Given the description of an element on the screen output the (x, y) to click on. 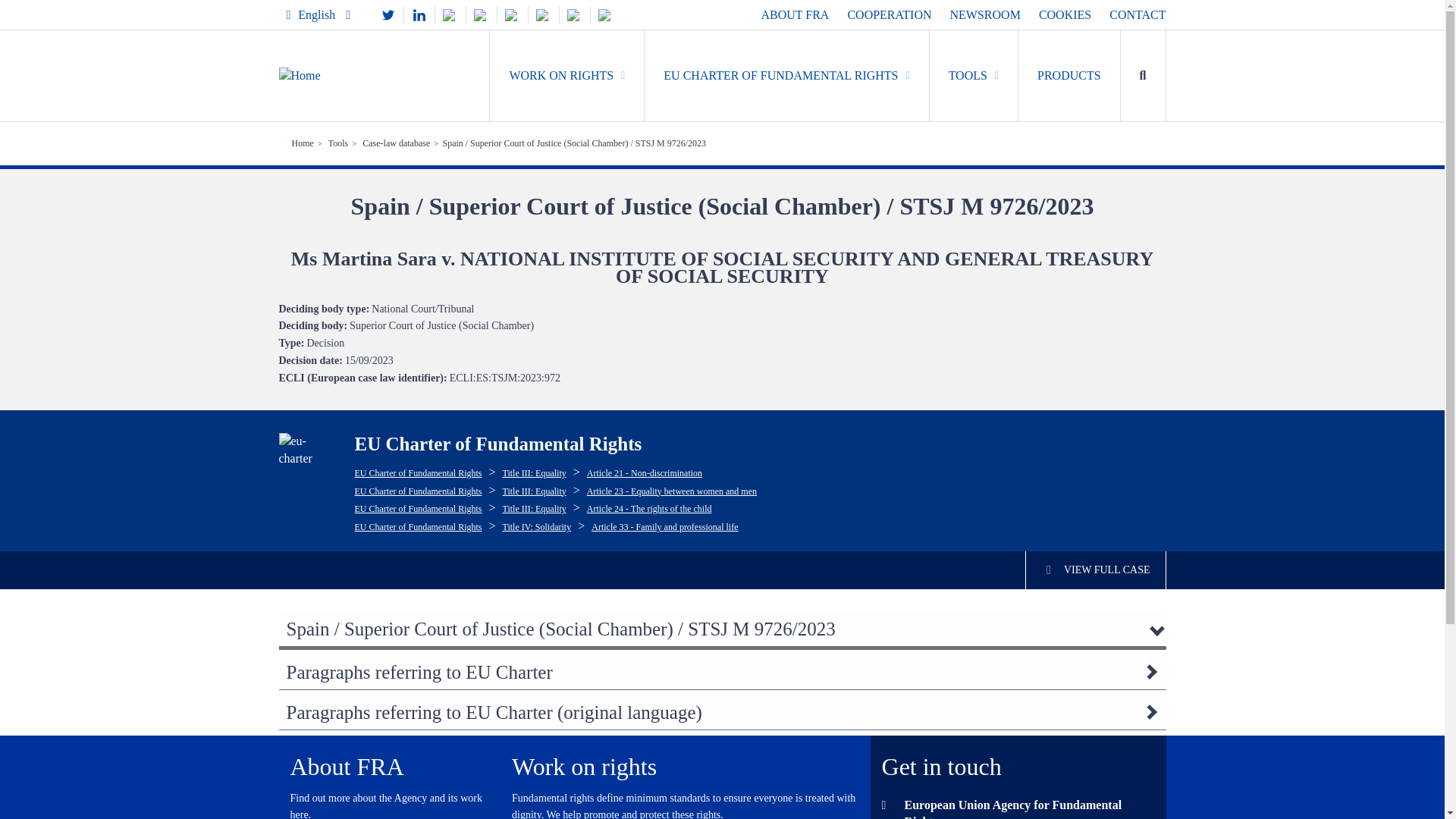
ABOUT FRA (794, 14)
FRA's Twitter channel (387, 13)
Facebook (512, 13)
LinkedIn (418, 13)
FRA's YouTube channel (543, 13)
Instagram (480, 13)
NEWSROOM (985, 14)
FRA's Mastodon channel (450, 13)
FRA's LinkedIn channel (418, 13)
Newsletter (606, 13)
FRA's PeerTube channel (574, 13)
PeerTube (574, 13)
CONTACT (1137, 14)
COOPERATION (889, 14)
